Given the description of an element on the screen output the (x, y) to click on. 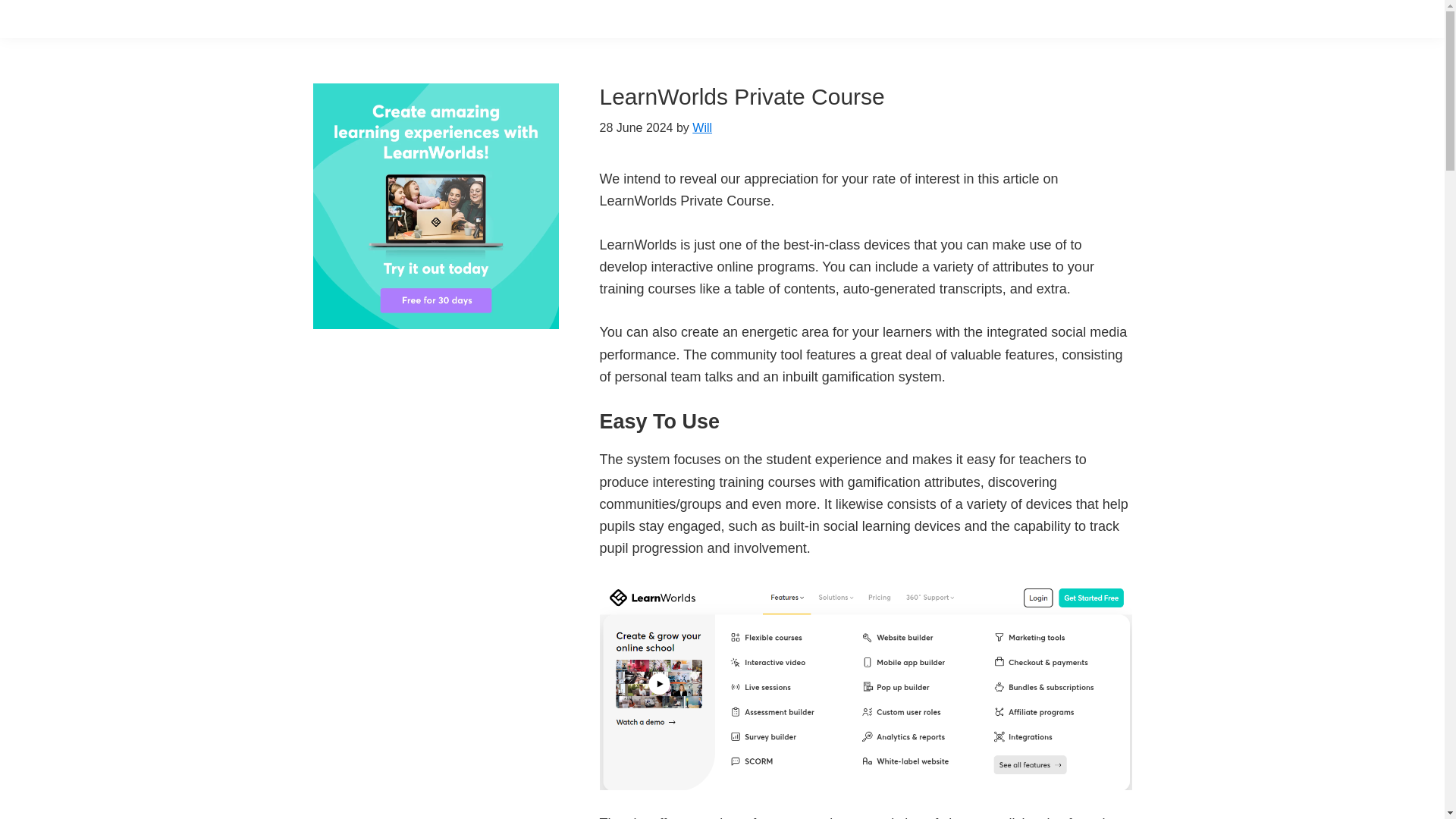
Will (702, 127)
